Given the description of an element on the screen output the (x, y) to click on. 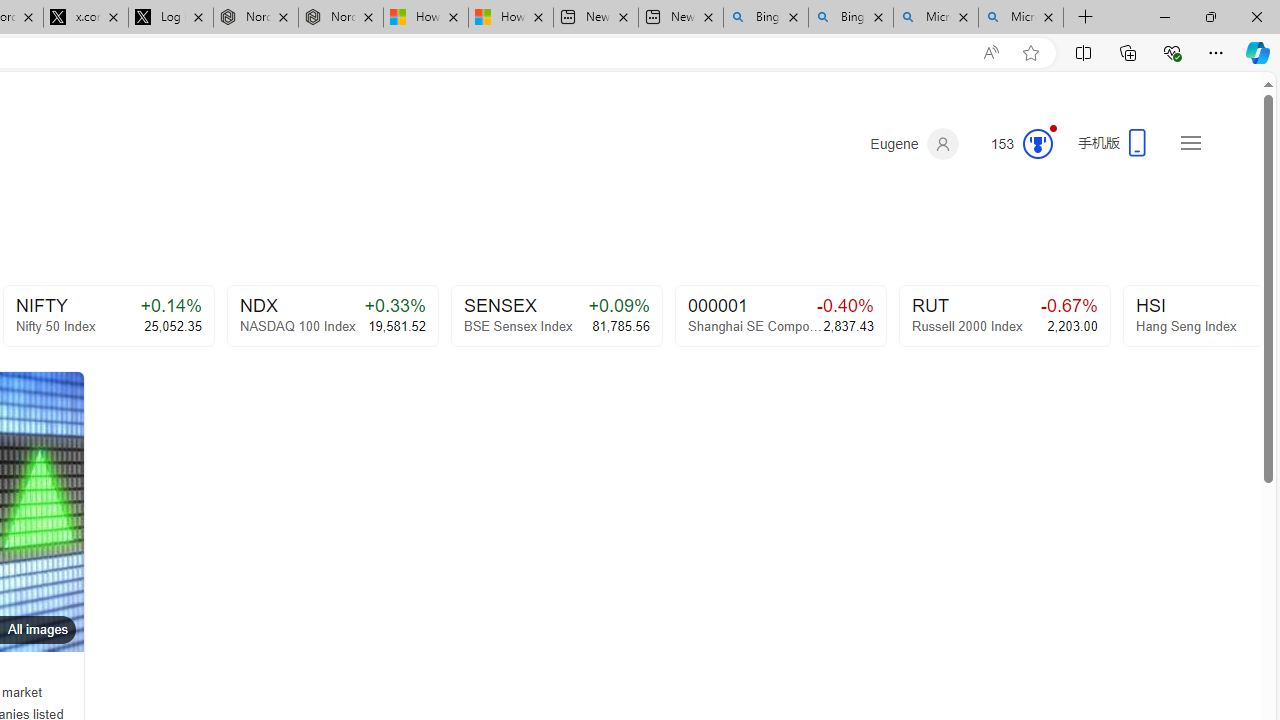
NIFTY+0.14%Nifty 50 Index25,052.35 (108, 315)
RUT -0.67% Russell 2000 Index 2,203.00 (1004, 315)
SENSEX +0.09% BSE Sensex Index 81,785.56 (556, 315)
Class: medal-circled (1037, 143)
Microsoft Rewards 153 (1014, 143)
